Given the description of an element on the screen output the (x, y) to click on. 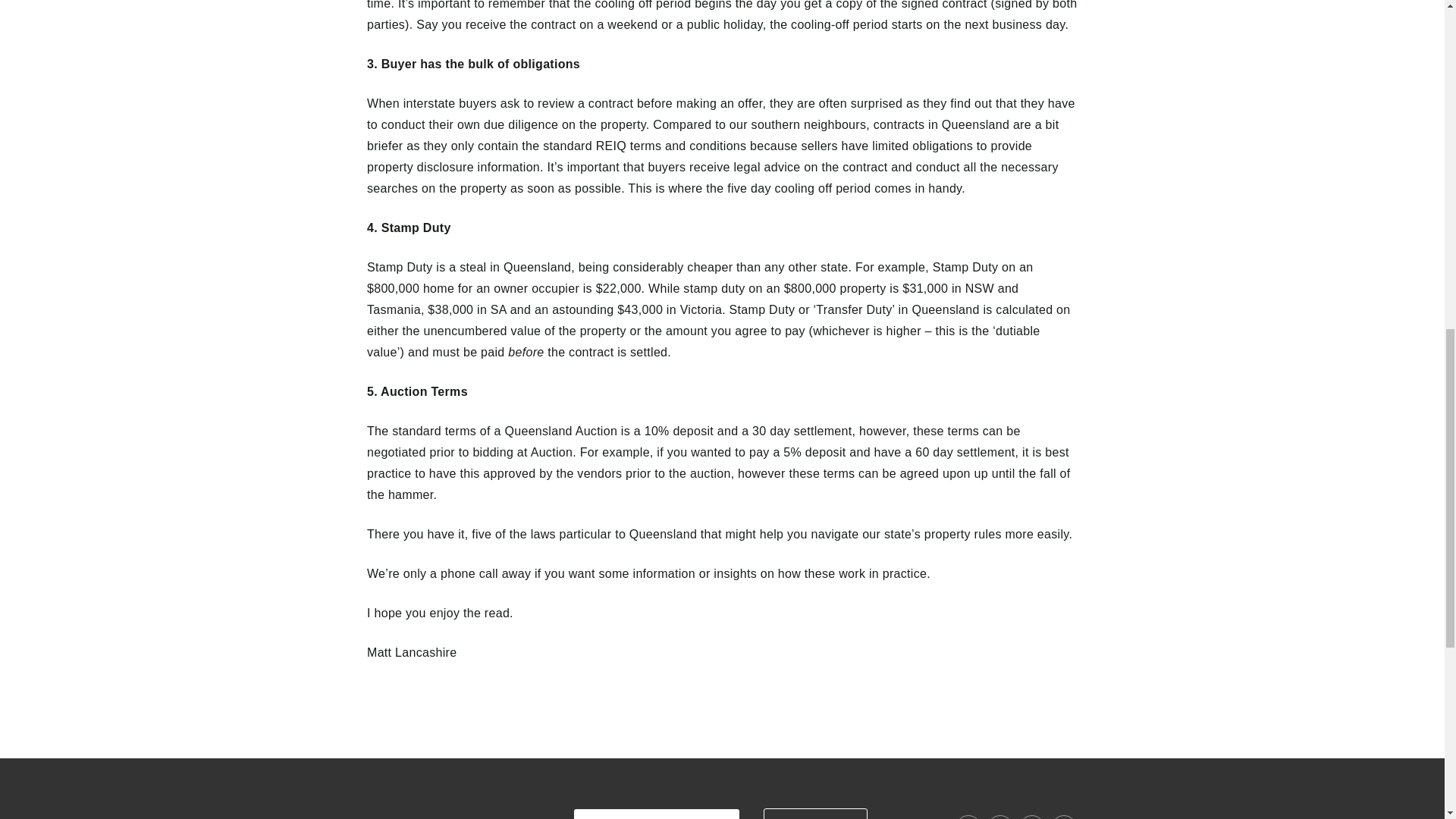
Ray White (376, 788)
BOOK A FREE APPRAISAL (655, 814)
Youtube (1064, 816)
Facebook (968, 816)
CONTACT US (814, 813)
LinkedIn (1032, 816)
Instagram (1000, 816)
